Given the description of an element on the screen output the (x, y) to click on. 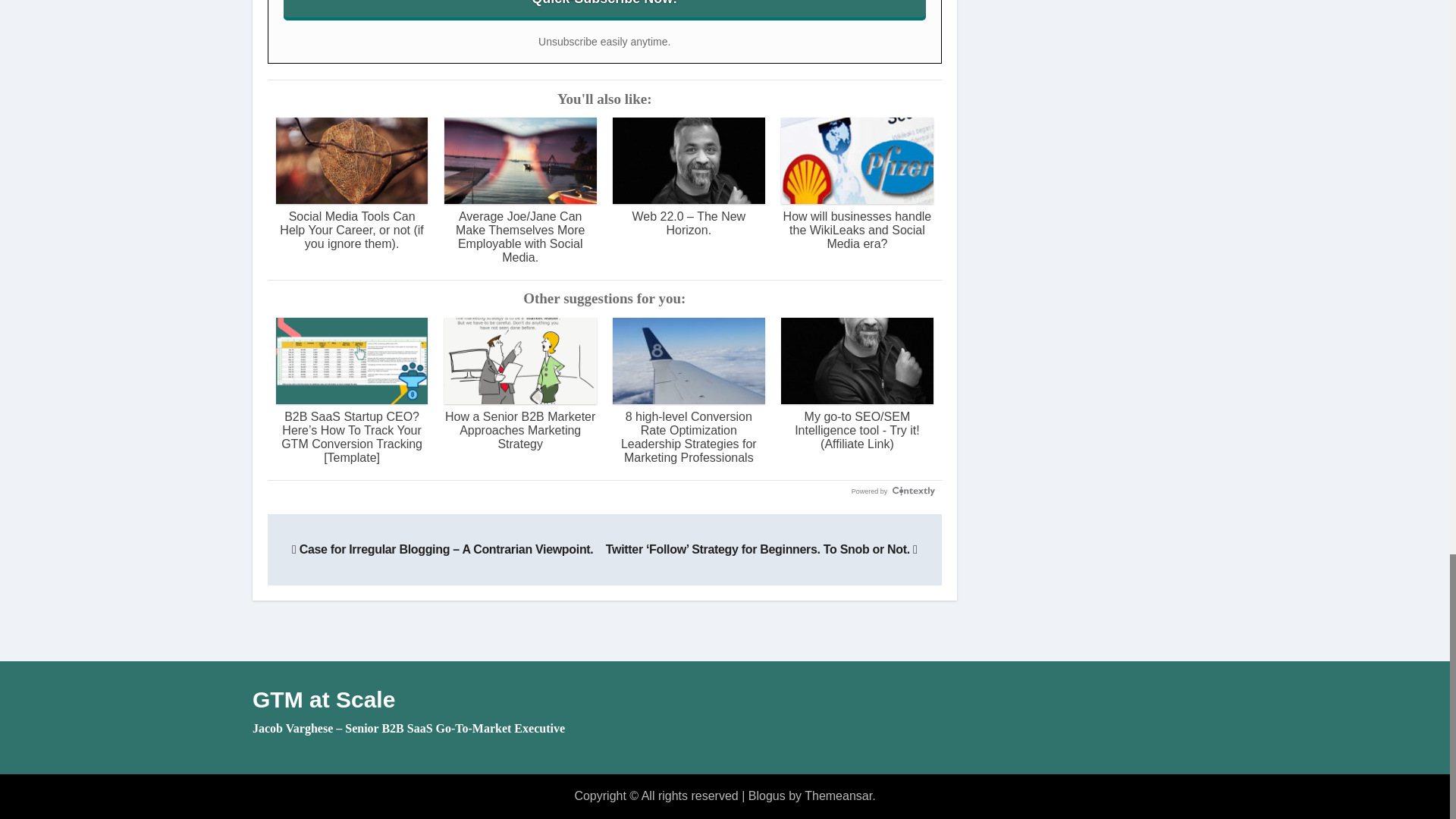
Themeansar (838, 795)
Blogus (767, 795)
How a Senior B2B Marketer Approaches Marketing Strategy (520, 384)
Powered by (892, 491)
Quick-Subscribe Now! (604, 8)
Quick-Subscribe Now! (604, 8)
How a Senior B2B Marketer Approaches Marketing Strategy (520, 384)
GTM at Scale (322, 699)
